Given the description of an element on the screen output the (x, y) to click on. 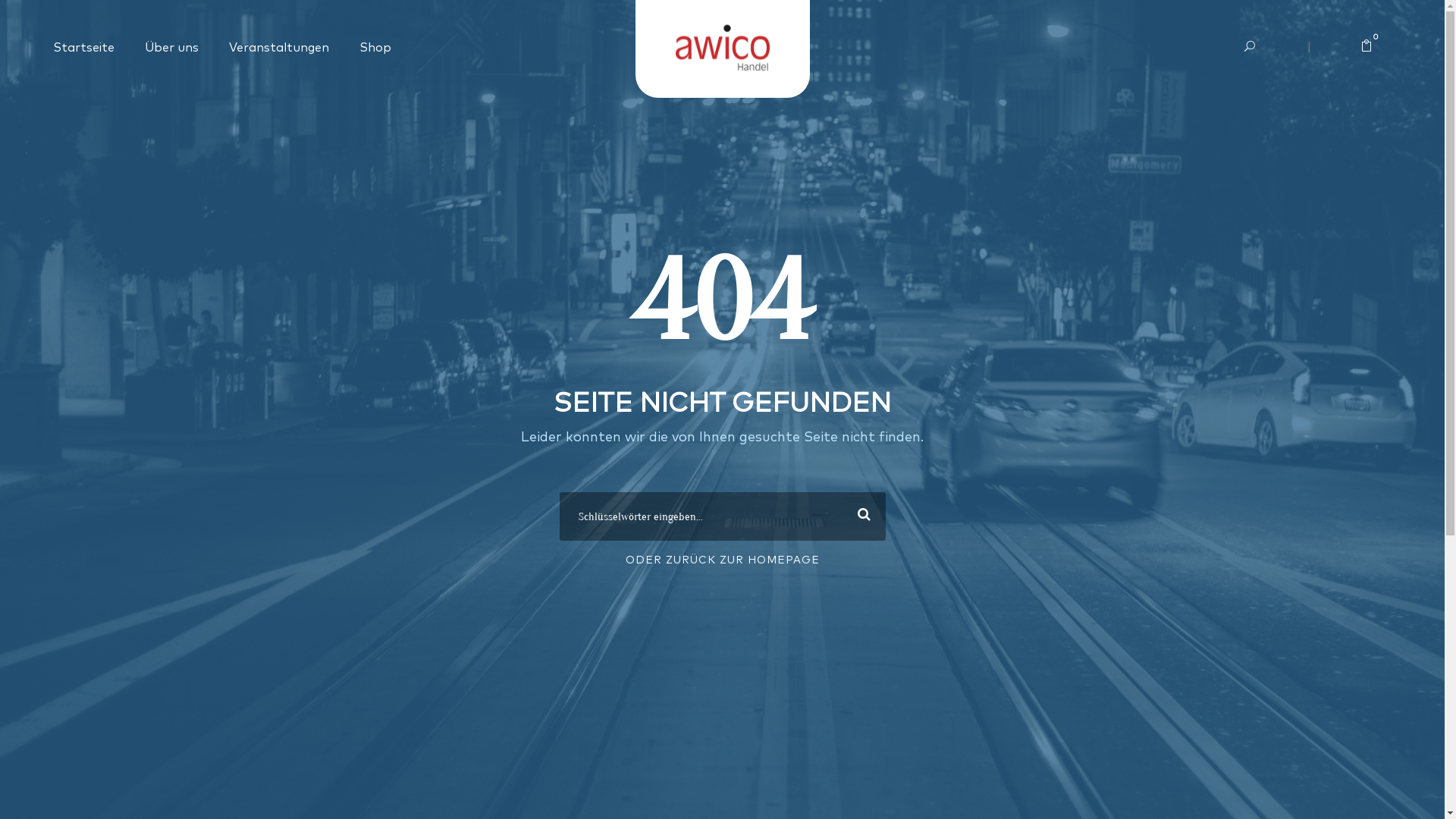
Veranstaltungen Element type: text (279, 47)
Shop Element type: text (375, 47)
awico_loco Element type: hover (721, 48)
Startseite Element type: text (83, 47)
Search Element type: text (860, 516)
